Given the description of an element on the screen output the (x, y) to click on. 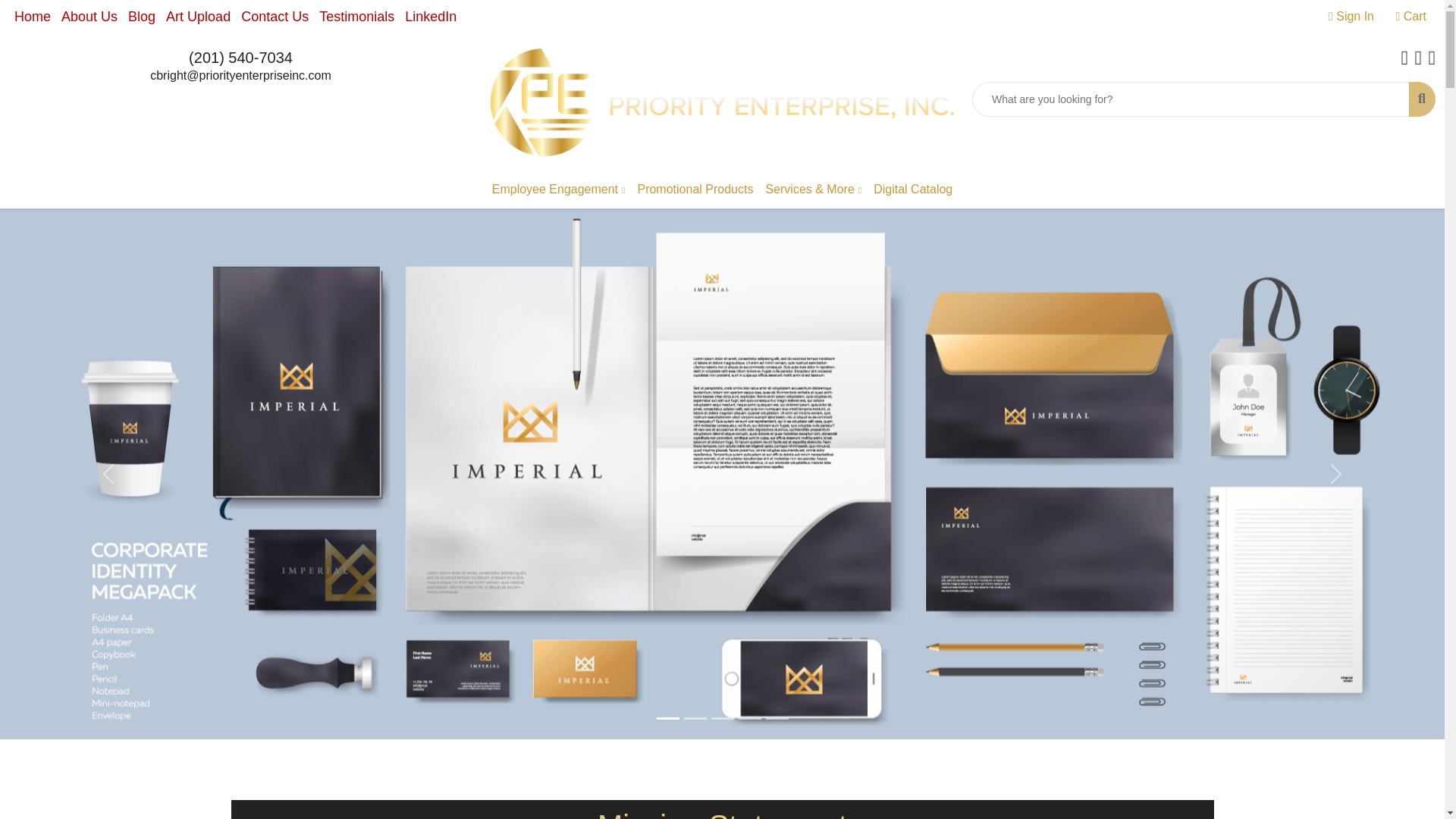
Cart (1410, 16)
Digital Catalog (912, 189)
About Us (89, 16)
Art Upload (197, 16)
Promotional Products (694, 189)
Contact Us (274, 16)
Sign In (1350, 16)
Home (32, 16)
Blog (141, 16)
Employee Engagement (558, 189)
LinkedIn (429, 16)
Testimonials (356, 16)
